Given the description of an element on the screen output the (x, y) to click on. 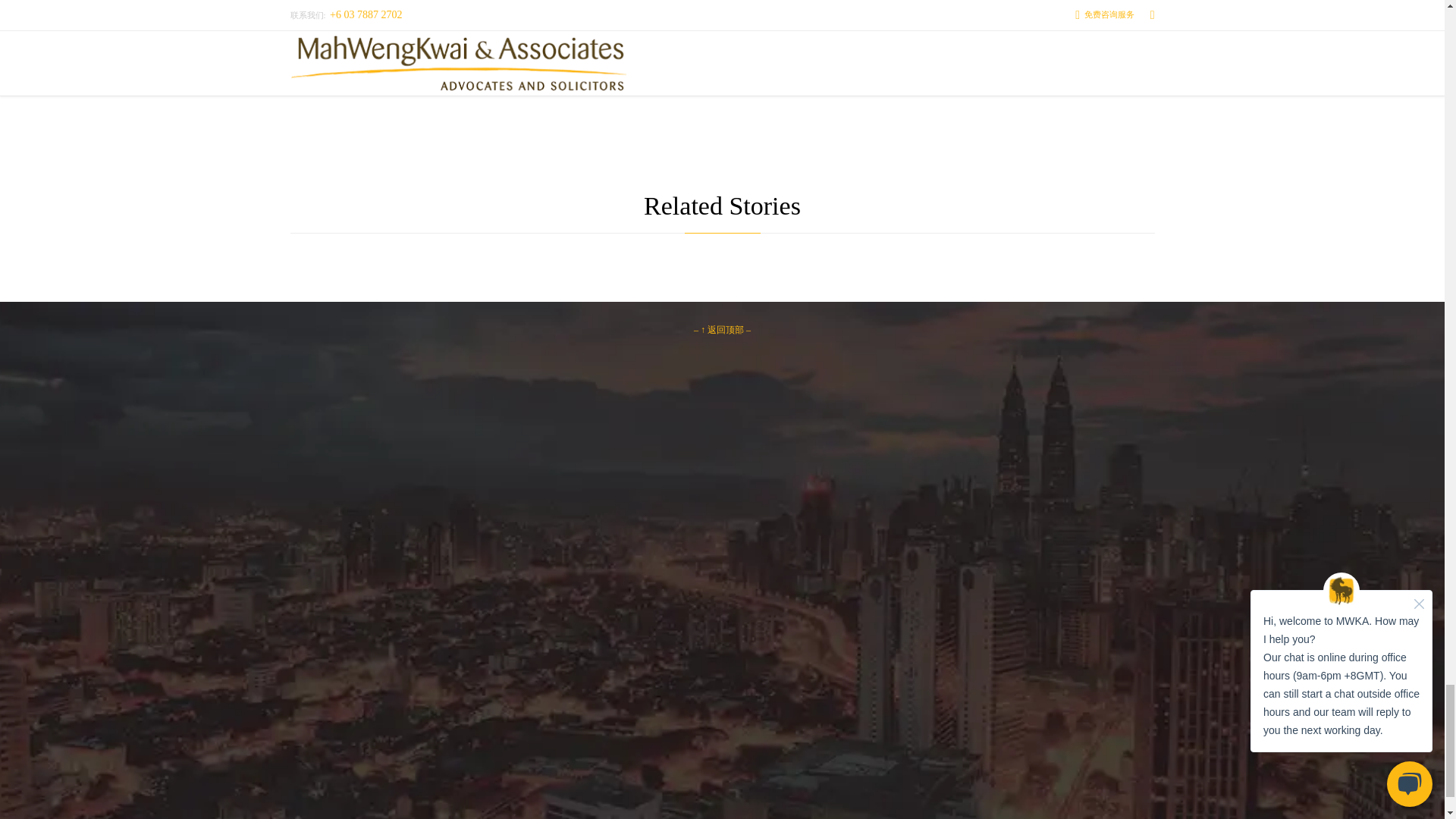
Share on Google Plus (663, 61)
Share on Twitter (598, 61)
Share on Facebook (533, 61)
